Given the description of an element on the screen output the (x, y) to click on. 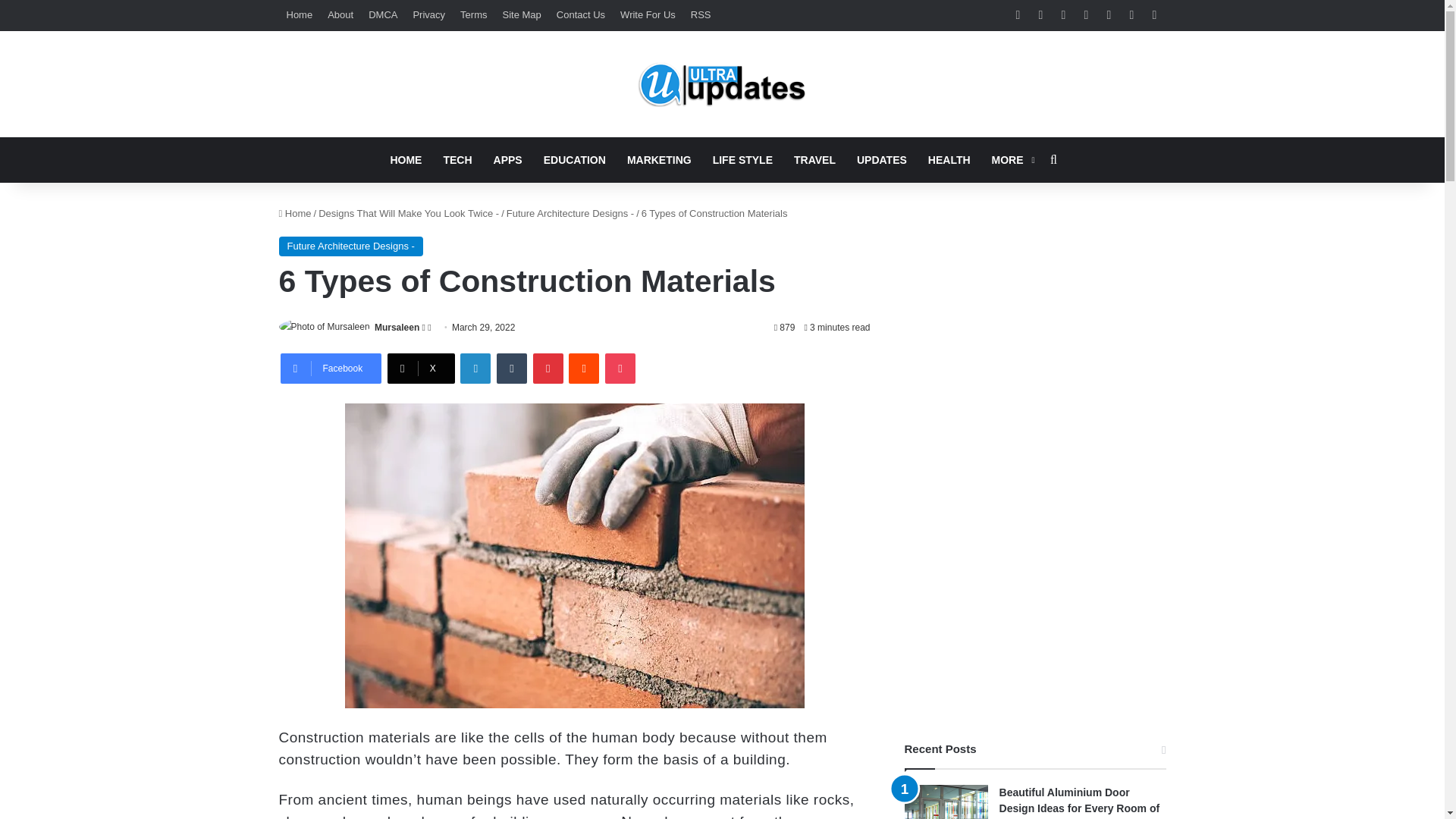
UPDATES (881, 159)
MARKETING (658, 159)
LinkedIn (475, 368)
APPS (507, 159)
HEALTH (949, 159)
Pocket (619, 368)
MORE (1011, 159)
RSS (700, 15)
Pinterest (547, 368)
LIFE STYLE (742, 159)
